Given the description of an element on the screen output the (x, y) to click on. 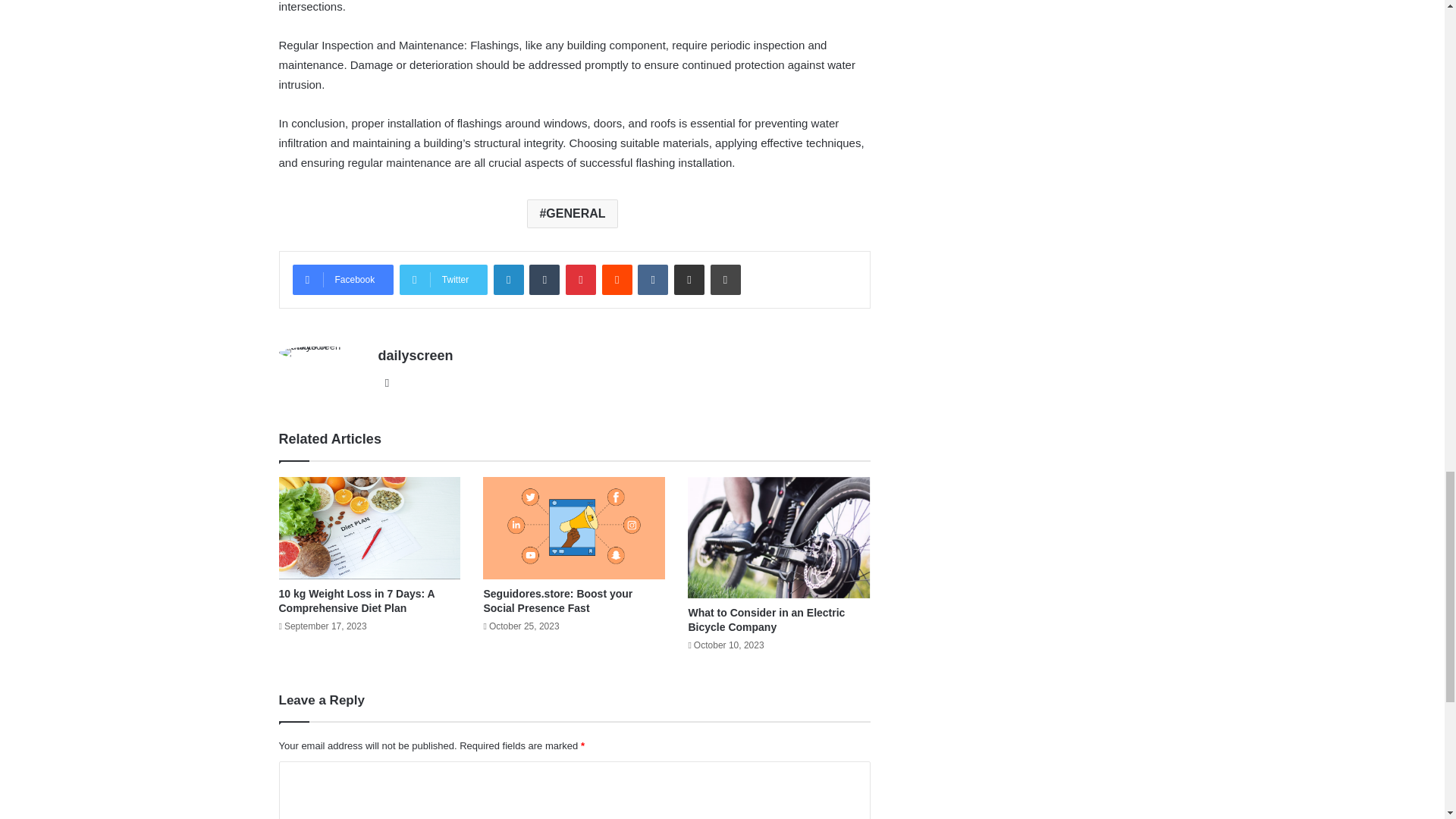
dailyscreen (414, 355)
GENERAL (572, 213)
LinkedIn (508, 279)
VKontakte (652, 279)
Reddit (616, 279)
Reddit (616, 279)
10 kg Weight Loss in 7 Days: A Comprehensive Diet Plan (357, 601)
Facebook (343, 279)
Twitter (442, 279)
Twitter (442, 279)
Pinterest (580, 279)
Print (725, 279)
Tumblr (544, 279)
LinkedIn (508, 279)
Pinterest (580, 279)
